Given the description of an element on the screen output the (x, y) to click on. 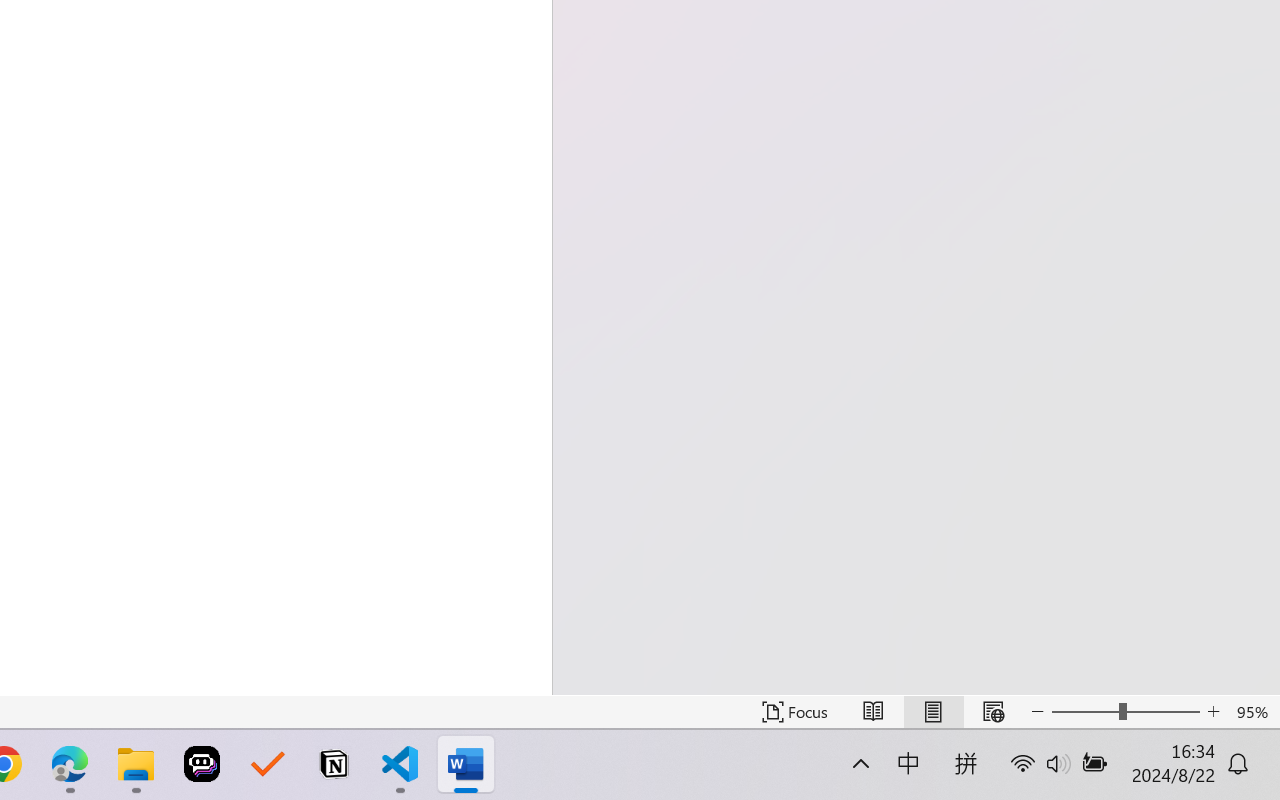
Zoom 95% (1253, 712)
